Given the description of an element on the screen output the (x, y) to click on. 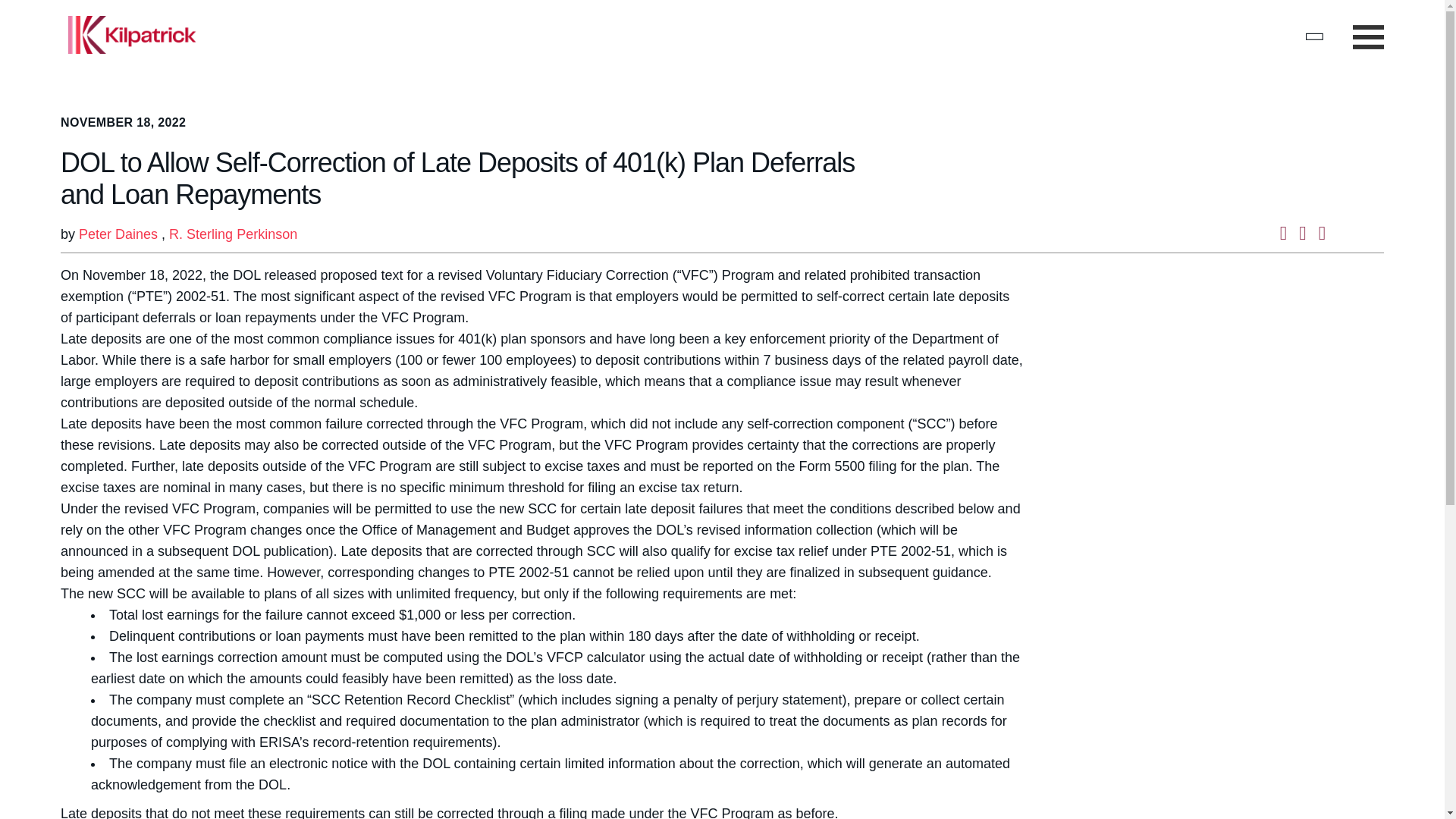
Peter Daines (117, 233)
R. Sterling Perkinson (232, 233)
Kilpatrick  (132, 34)
